Given the description of an element on the screen output the (x, y) to click on. 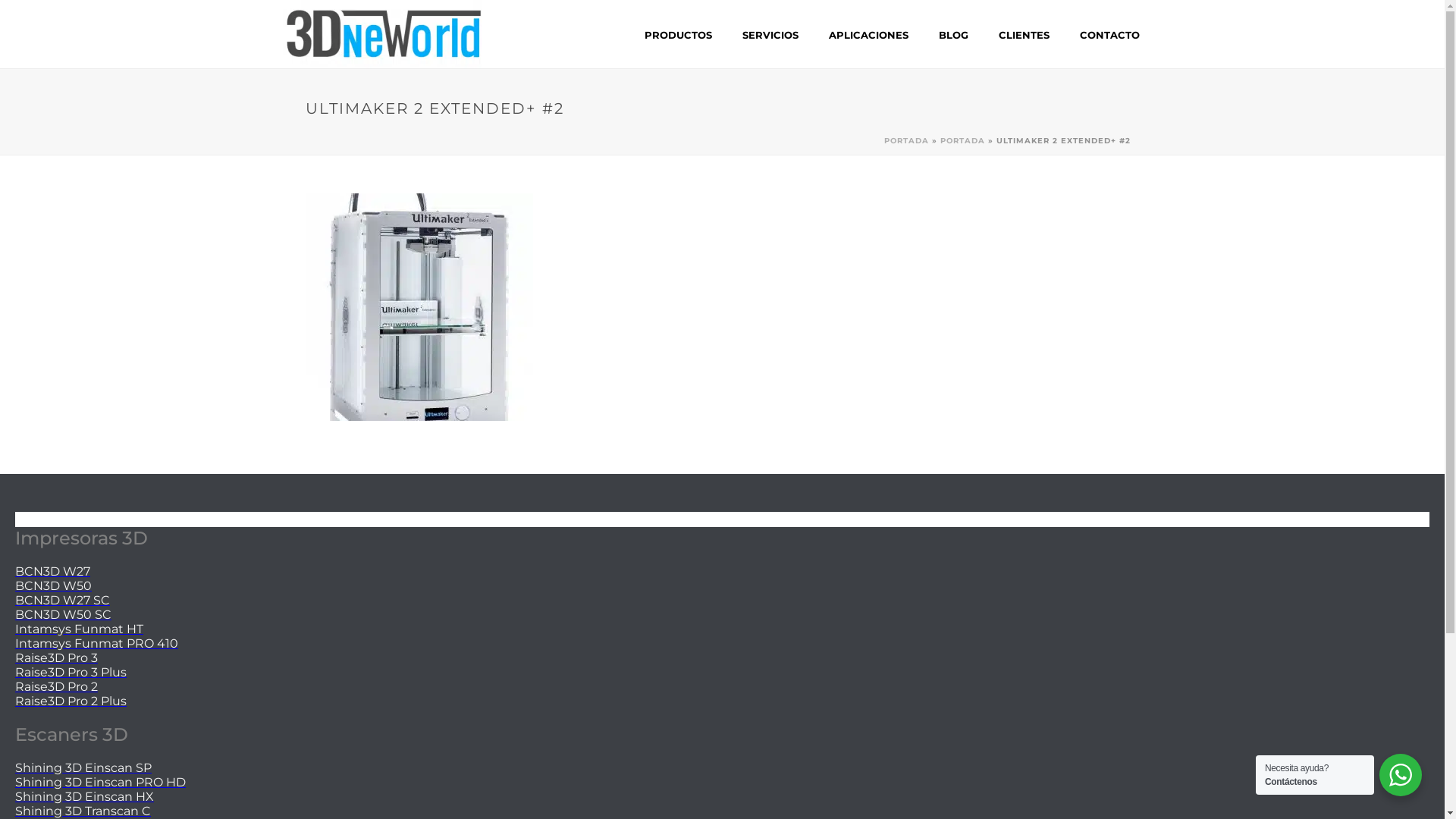
APLICACIONES Element type: text (867, 34)
PRODUCTOS Element type: text (678, 34)
SERVICIOS Element type: text (769, 34)
PORTADA Element type: text (962, 140)
PORTADA Element type: text (906, 140)
BLOG Element type: text (953, 34)
CONTACTO Element type: text (1109, 34)
CLIENTES Element type: text (1022, 34)
